Given the description of an element on the screen output the (x, y) to click on. 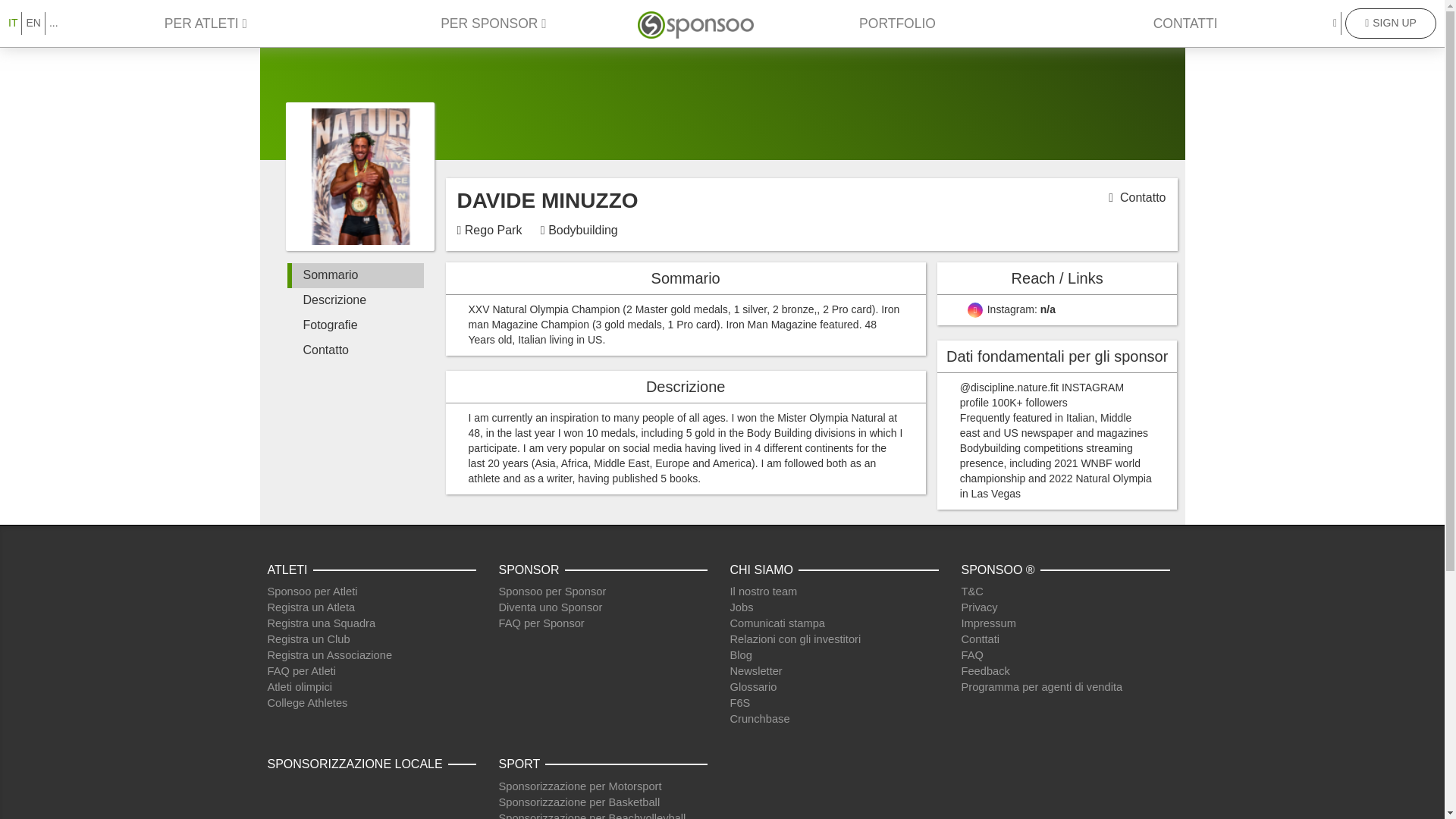
ATLETI (289, 569)
Descrizione (354, 300)
PER ATLETI (206, 22)
Registra un Atleta (310, 607)
PER SPONSOR (493, 22)
Registra un Associazione (328, 654)
Rego Park (493, 229)
CONTATTI (1185, 22)
SIGN UP (1390, 23)
Sponsoo per Atleti (311, 591)
Registra una Squadra (320, 623)
Sponsoo Blog (740, 654)
FAQ per Atleti (300, 671)
Sommario (354, 275)
Contatto (1142, 196)
